Given the description of an element on the screen output the (x, y) to click on. 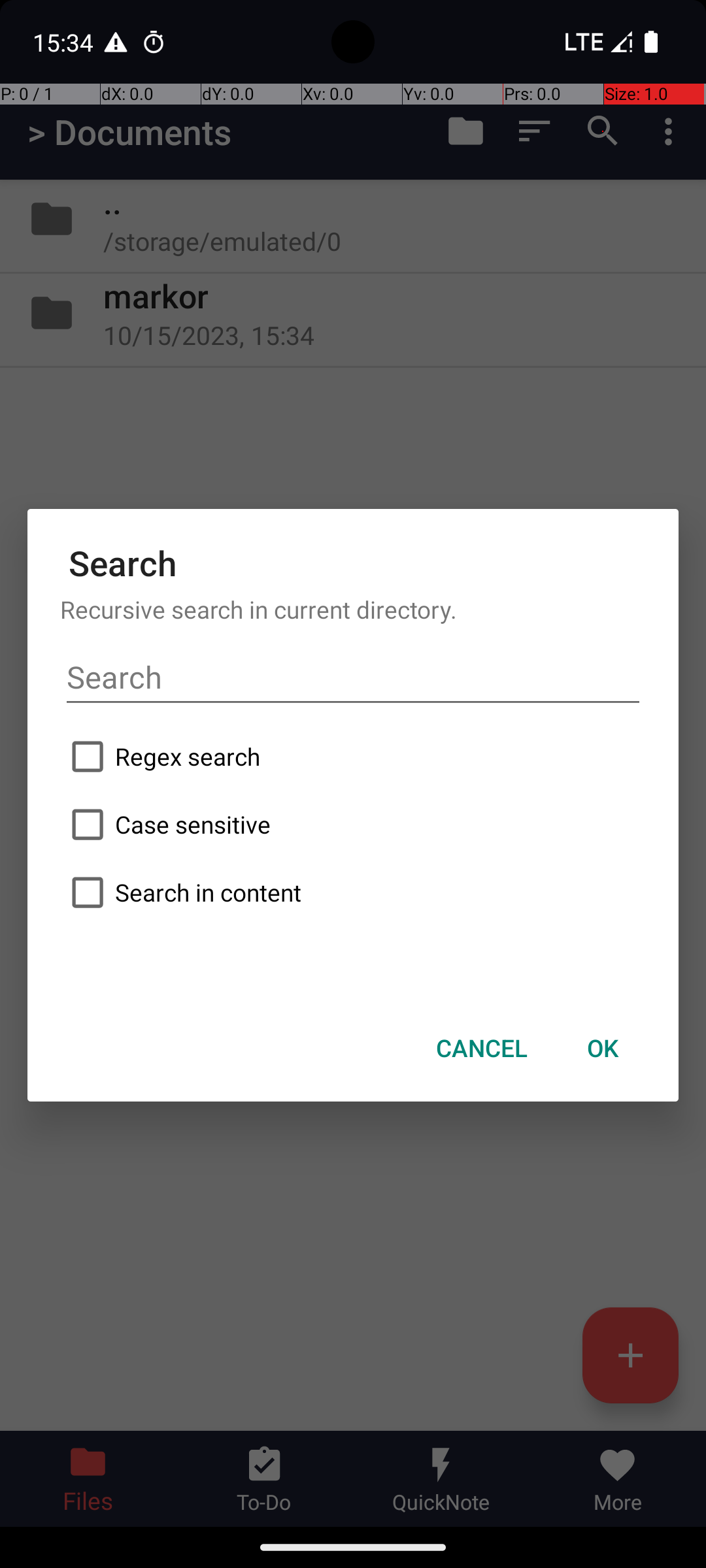
Recursive search in current directory. Element type: android.widget.TextView (352, 608)
Regex search Element type: android.widget.CheckBox (352, 756)
Case sensitive Element type: android.widget.CheckBox (352, 824)
Search in content Element type: android.widget.CheckBox (352, 892)
